Given the description of an element on the screen output the (x, y) to click on. 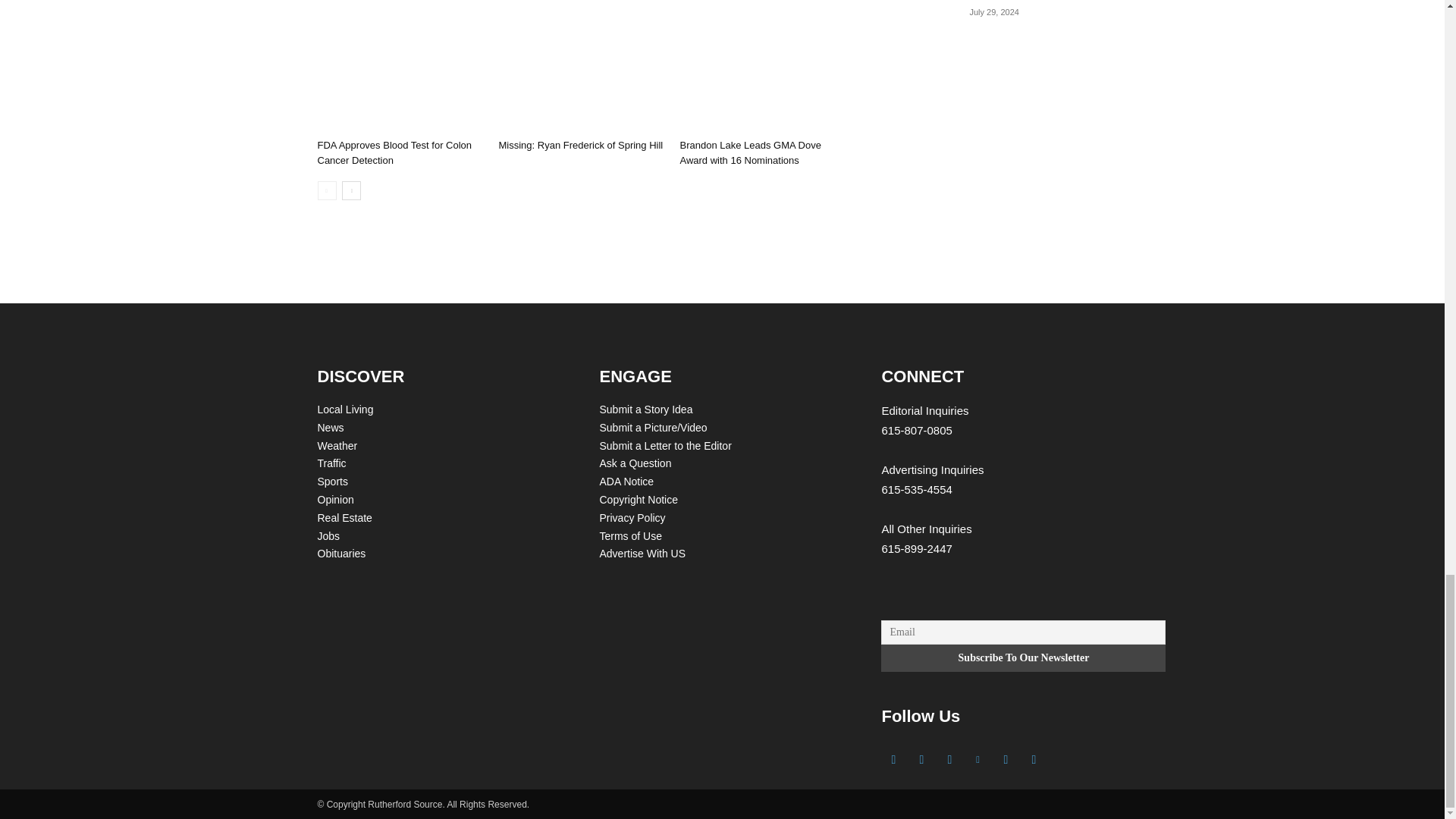
Subscribe To Our Newsletter (1023, 657)
